Given the description of an element on the screen output the (x, y) to click on. 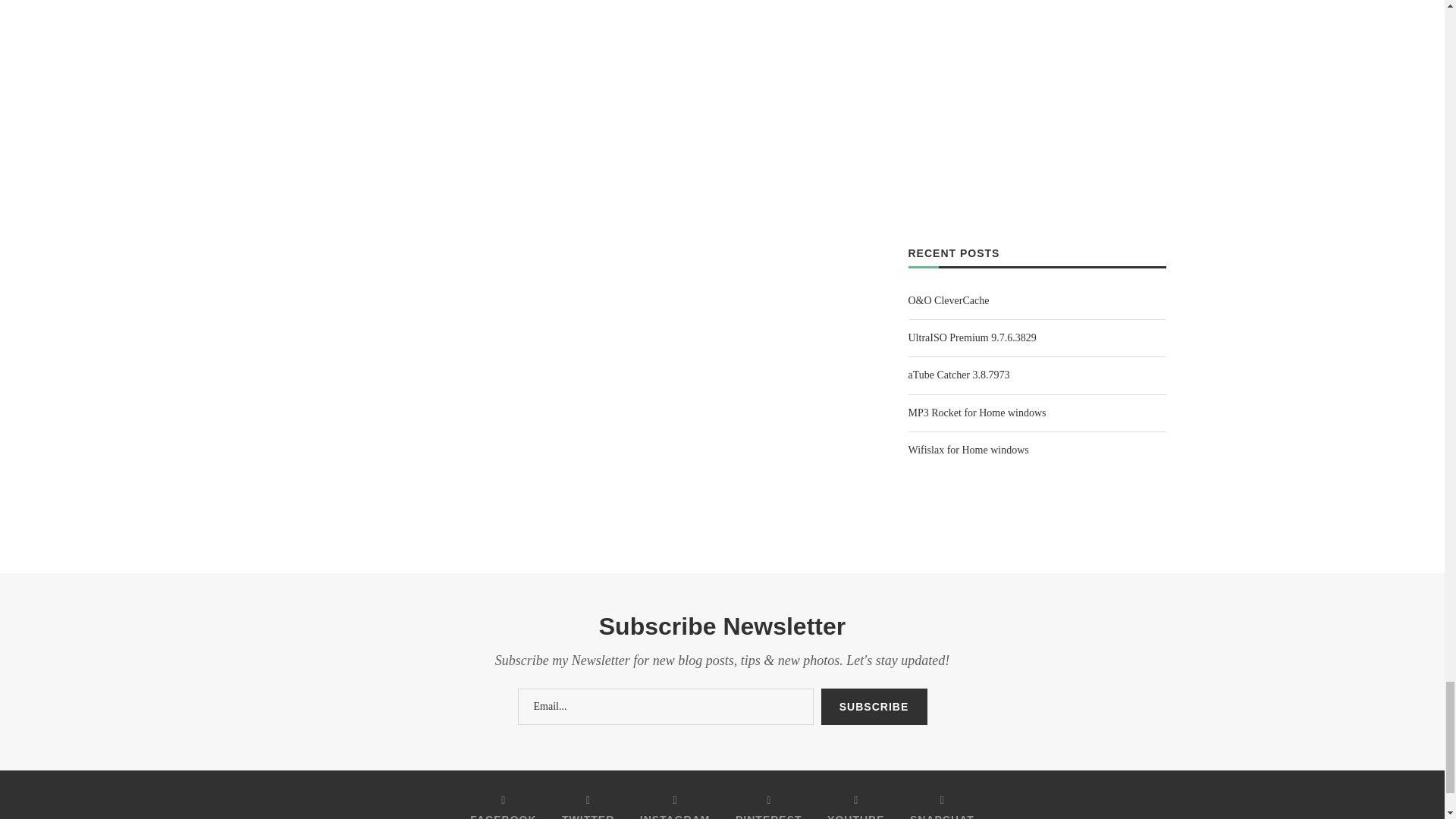
Subscribe (873, 706)
